Given the description of an element on the screen output the (x, y) to click on. 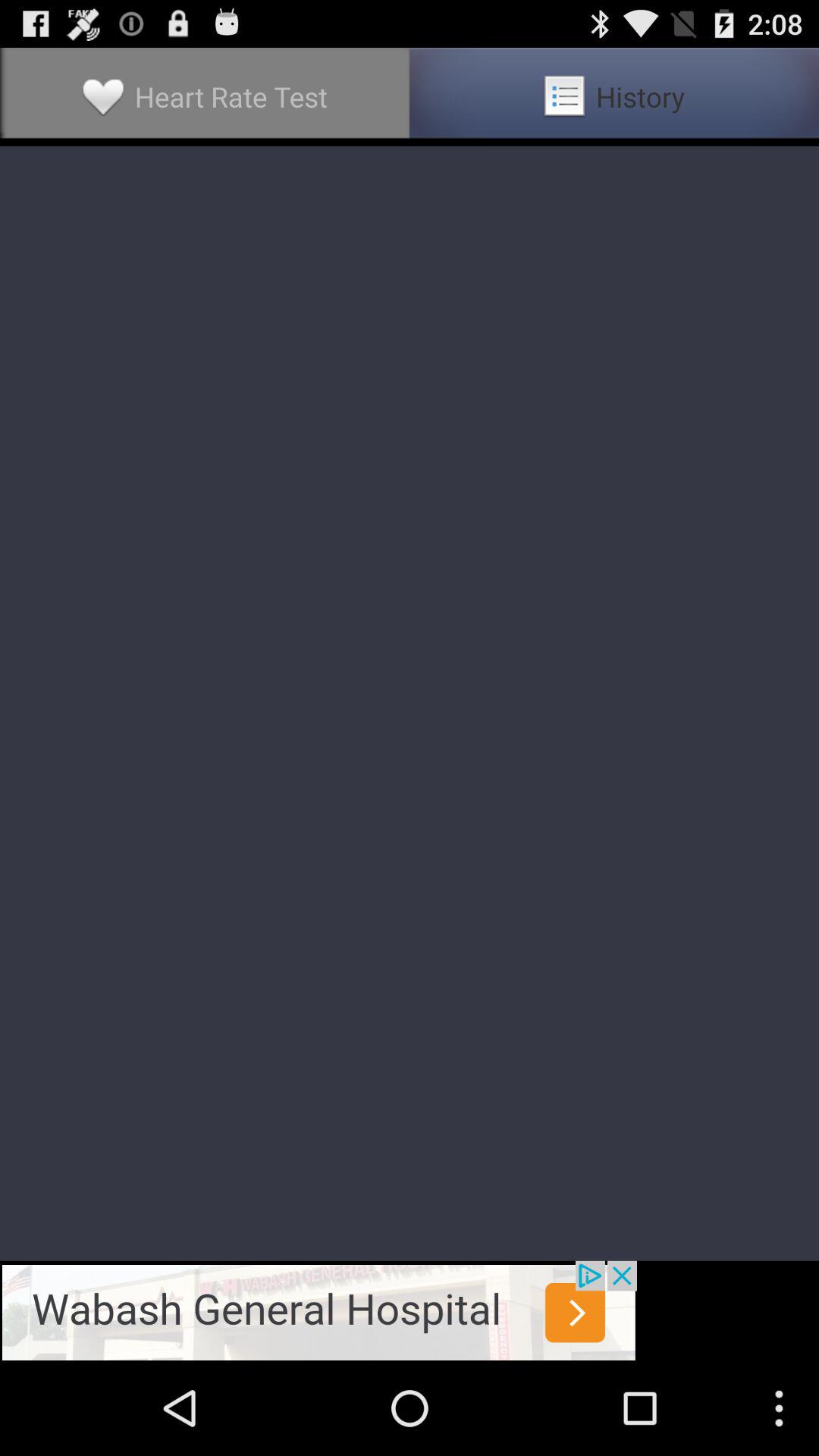
advertisement (318, 1310)
